Given the description of an element on the screen output the (x, y) to click on. 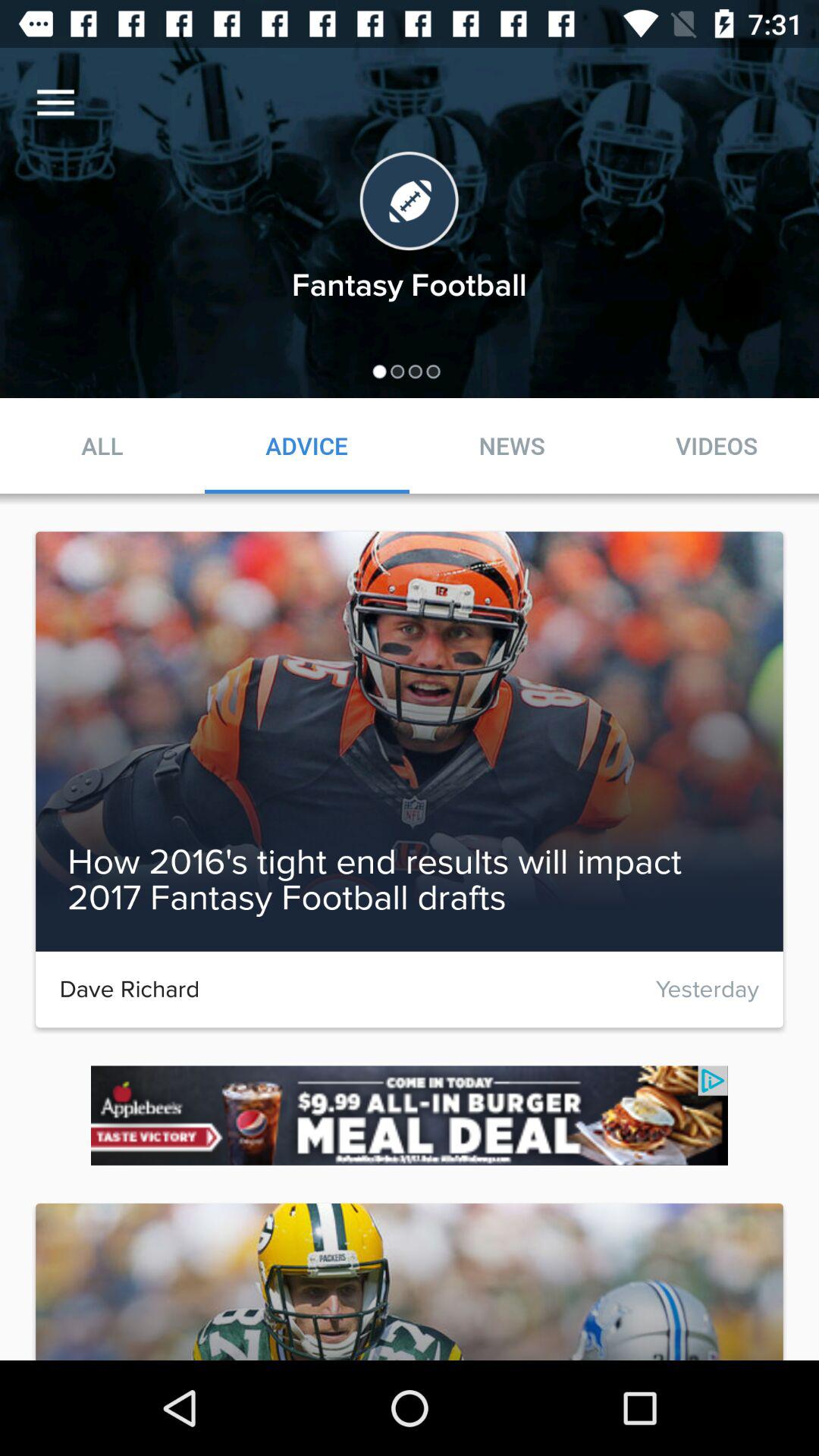
clickable advertisement (409, 1115)
